Given the description of an element on the screen output the (x, y) to click on. 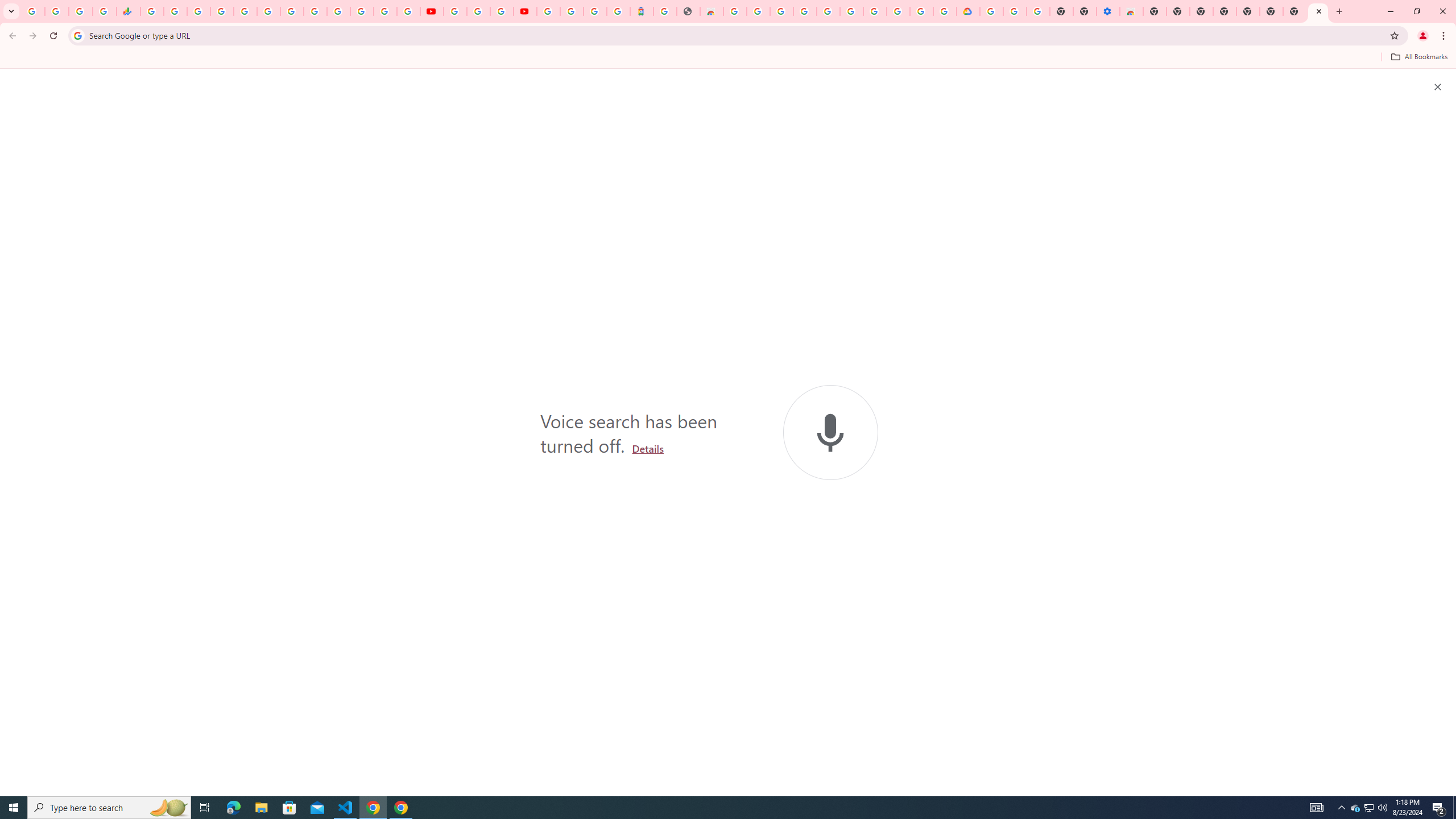
Google Account Help (874, 11)
YouTube (314, 11)
Google Account Help (478, 11)
Create your Google Account (757, 11)
Google Workspace Admin Community (32, 11)
Settings - Accessibility (1108, 11)
Google Account Help (1015, 11)
Sign in - Google Accounts (384, 11)
Sign in - Google Accounts (571, 11)
